Given the description of an element on the screen output the (x, y) to click on. 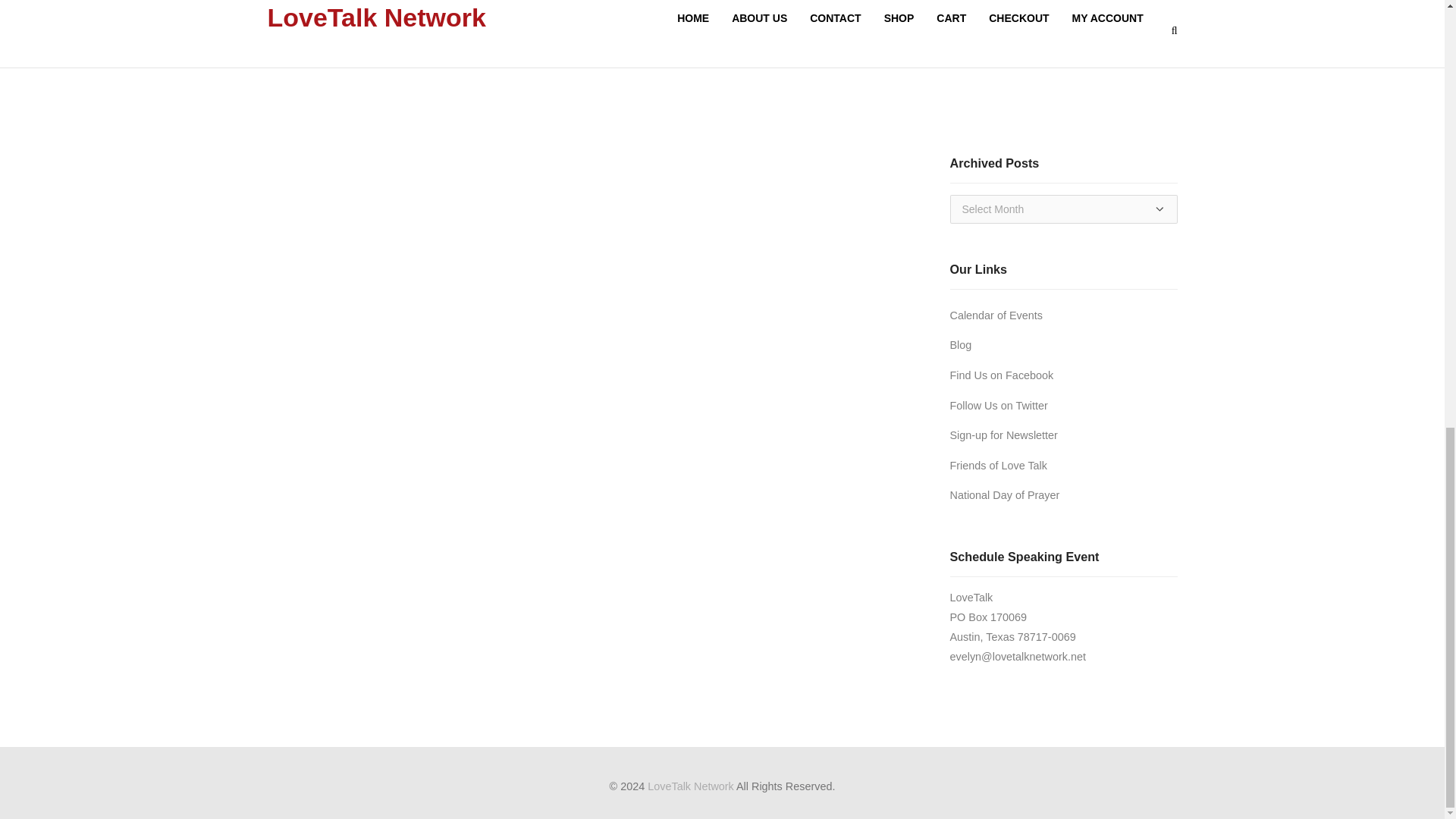
logged in (362, 40)
National Day of Prayer (1004, 494)
Love Talk Network Twitter Page (997, 405)
Find Us on Facebook (1000, 375)
Follow Us on Twitter (997, 405)
Calendar of Events (995, 315)
LoveTalk Network (690, 786)
Blog (960, 345)
Friends of Love Talk (997, 465)
Sign-up for Newsletter (1003, 435)
Love Talk Network Facebook  (1000, 375)
